Given the description of an element on the screen output the (x, y) to click on. 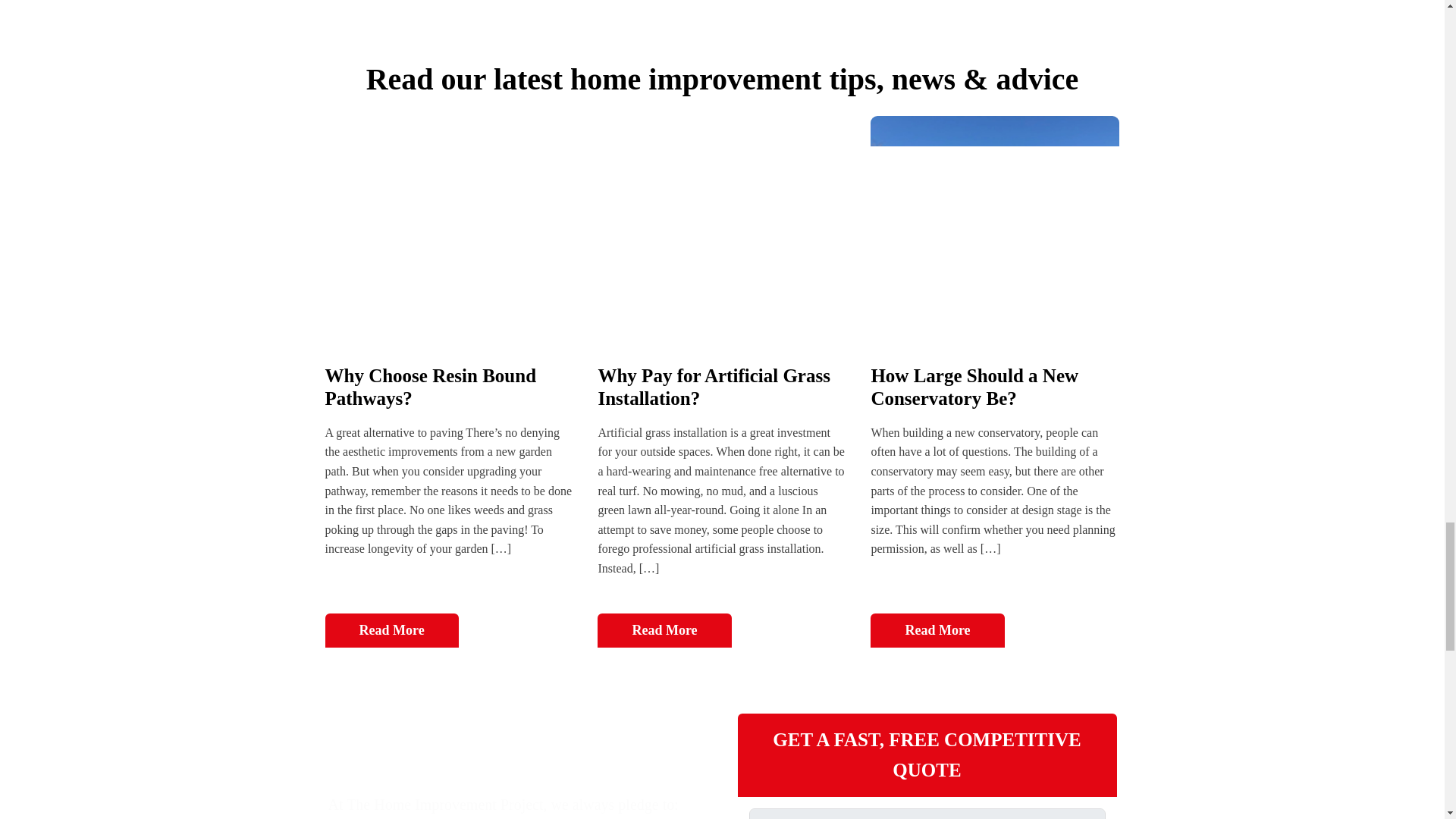
How Large Should a New Conservatory Be? (974, 387)
Why Pay for Artificial Grass Installation? (712, 387)
Why Choose Resin Bound Pathways? (429, 387)
Read More (391, 630)
Read More (663, 630)
Read More (937, 630)
